Given the description of an element on the screen output the (x, y) to click on. 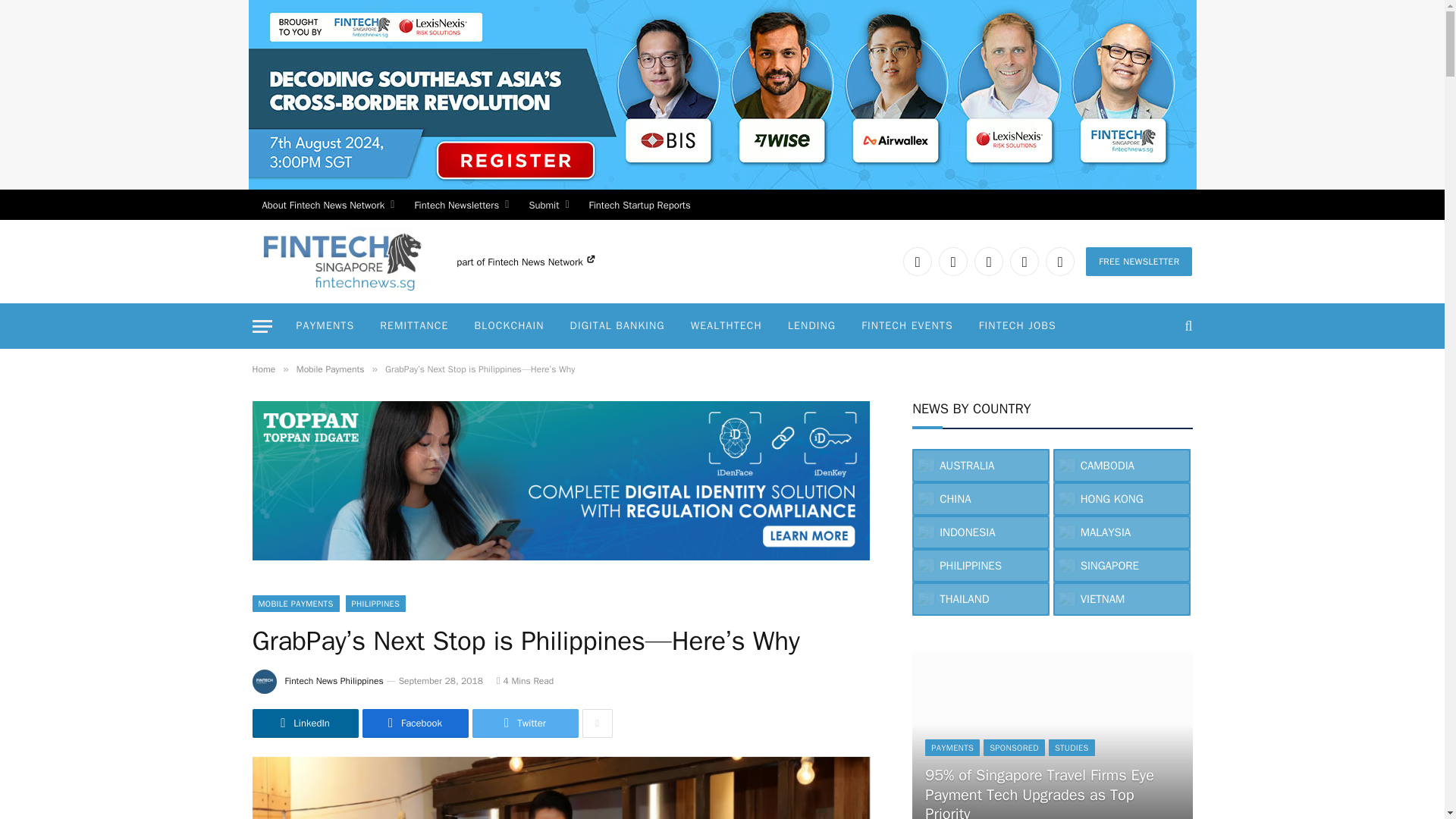
Fintech Singapore (340, 261)
Share on LinkedIn (304, 723)
Fintech Startup Reports (639, 204)
Share on Facebook (415, 723)
Fintech News Network (540, 261)
Show More Social Sharing (597, 723)
Fintech Newsletters (461, 204)
About Fintech News Network (327, 204)
Submit (548, 204)
Posts by Fintech News Philippines (334, 680)
